Given the description of an element on the screen output the (x, y) to click on. 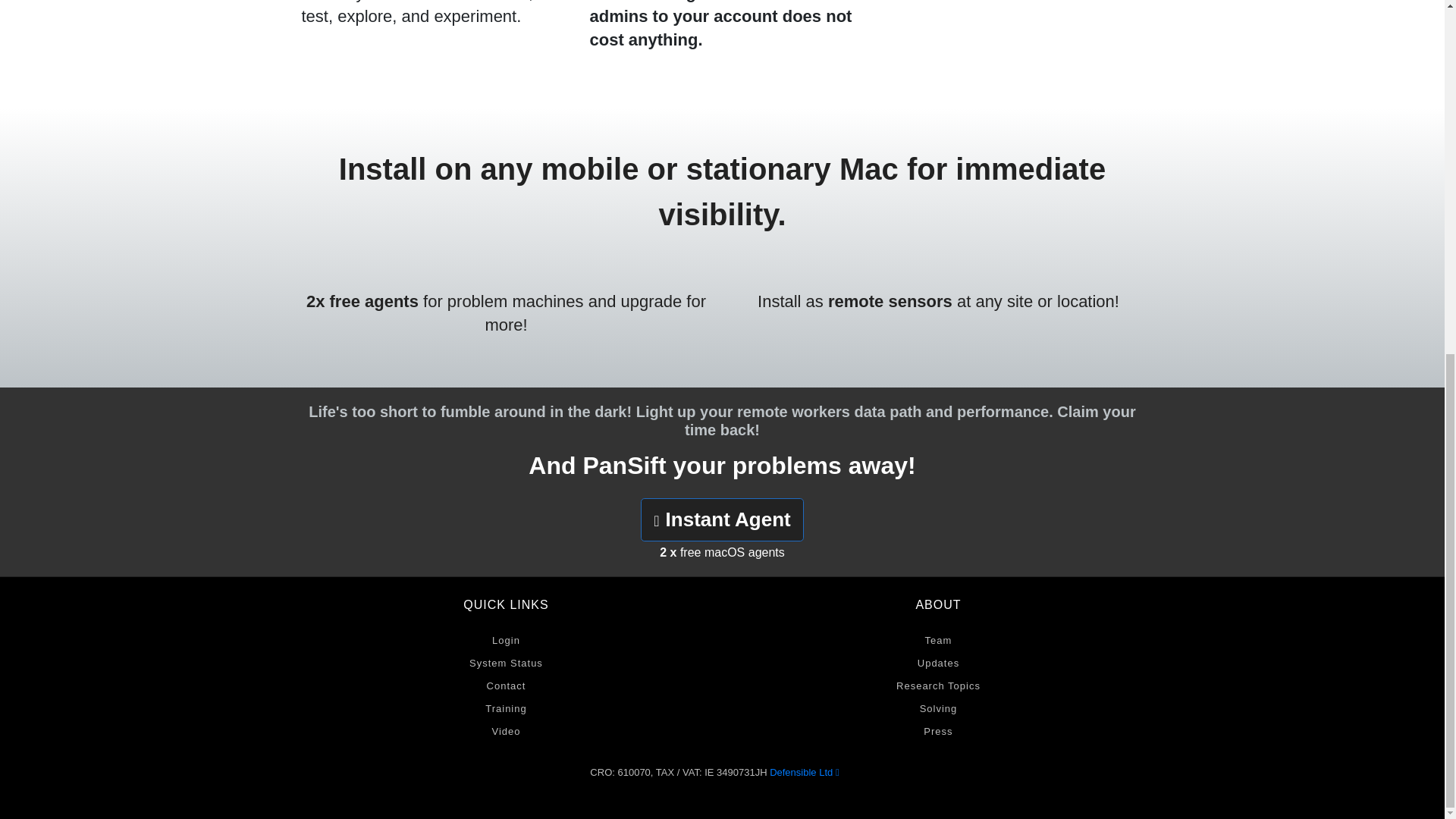
Login (505, 640)
Press (937, 731)
Contact (505, 685)
Research Topics (937, 685)
Instant Agent (721, 519)
System Status (505, 662)
Defensible Ltd (804, 772)
Solving (937, 708)
Training (505, 708)
Team (937, 640)
